Given the description of an element on the screen output the (x, y) to click on. 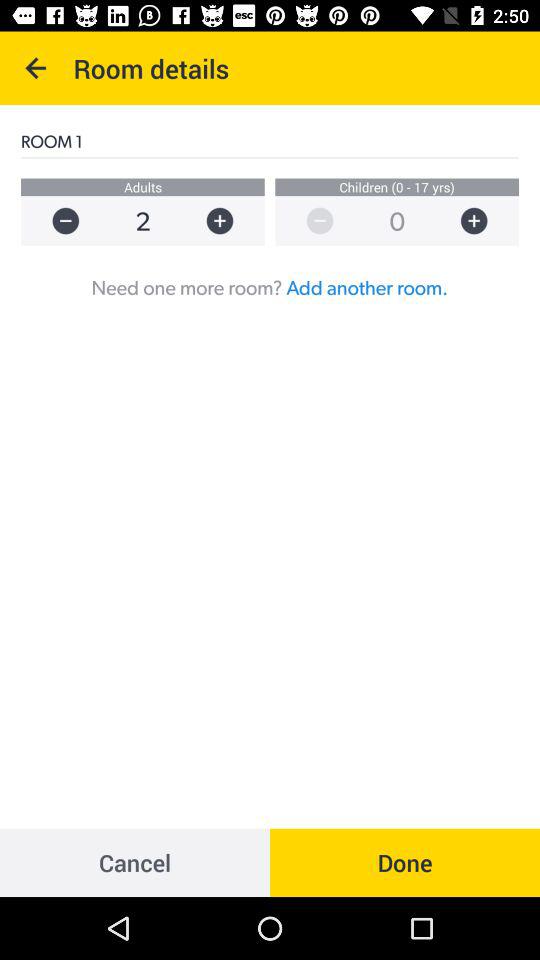
select icon below the need one more (405, 862)
